Given the description of an element on the screen output the (x, y) to click on. 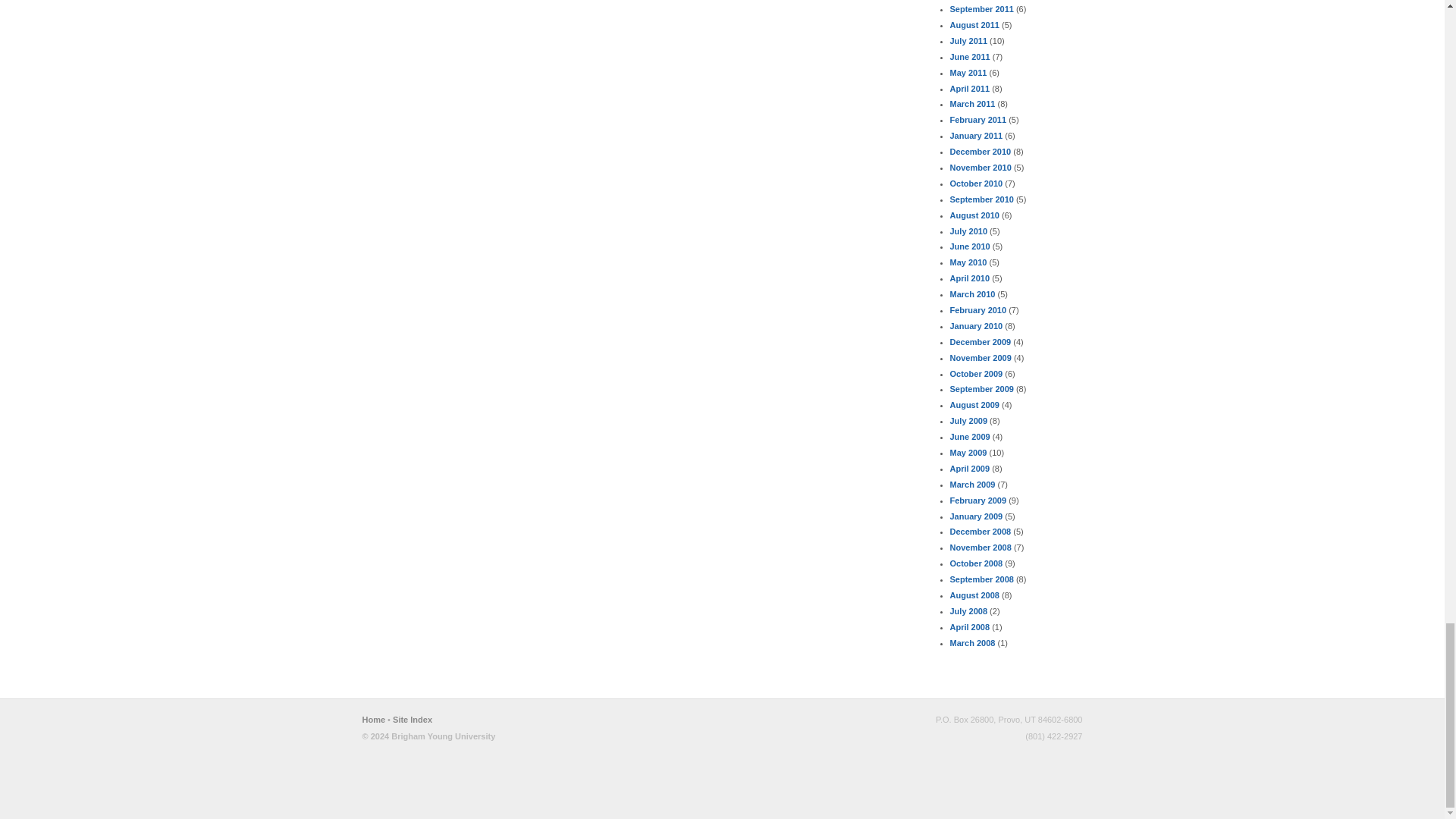
Copyright and Use Information (429, 736)
